Given the description of an element on the screen output the (x, y) to click on. 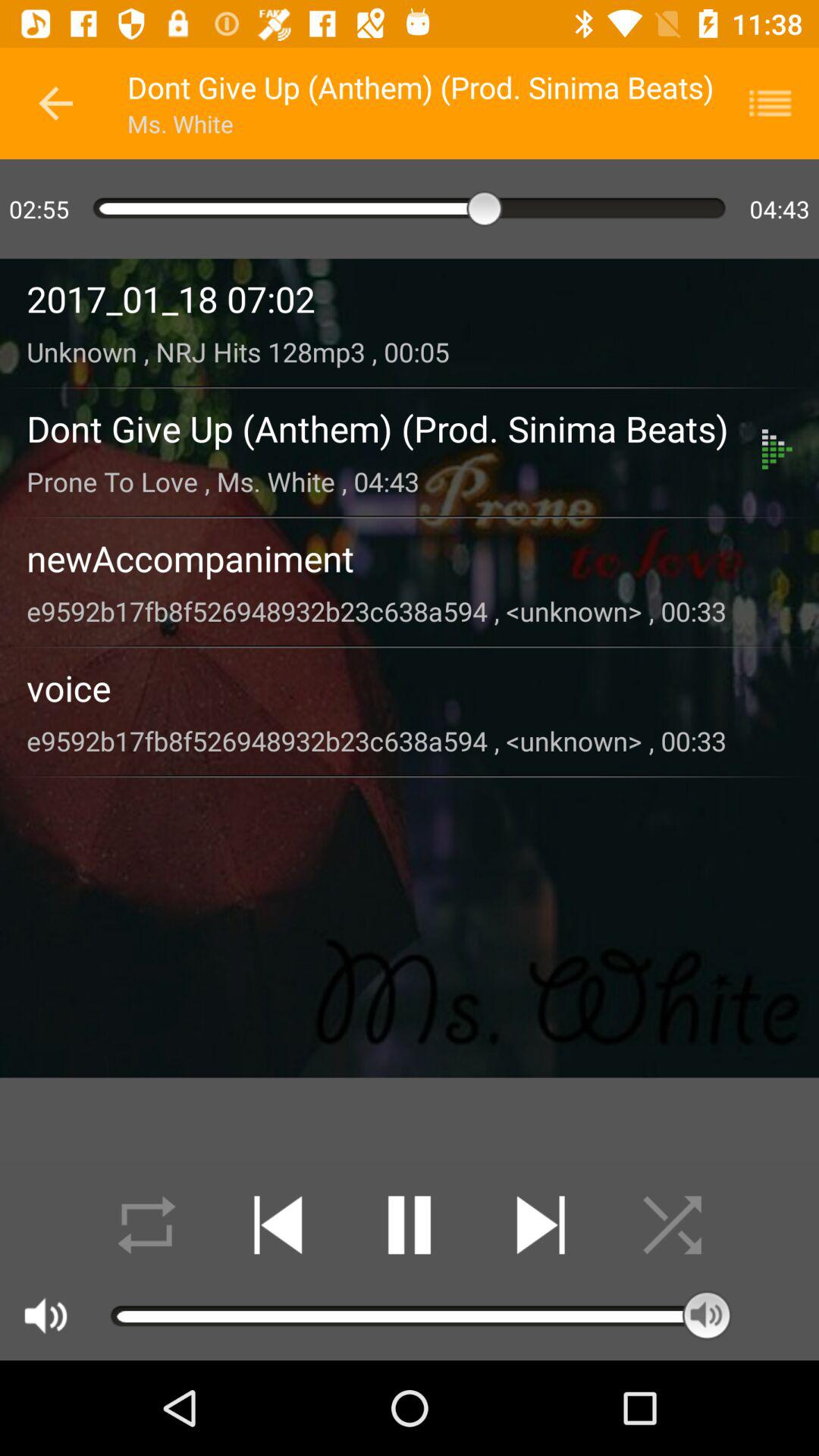
flip until the newaccompaniment (409, 558)
